Given the description of an element on the screen output the (x, y) to click on. 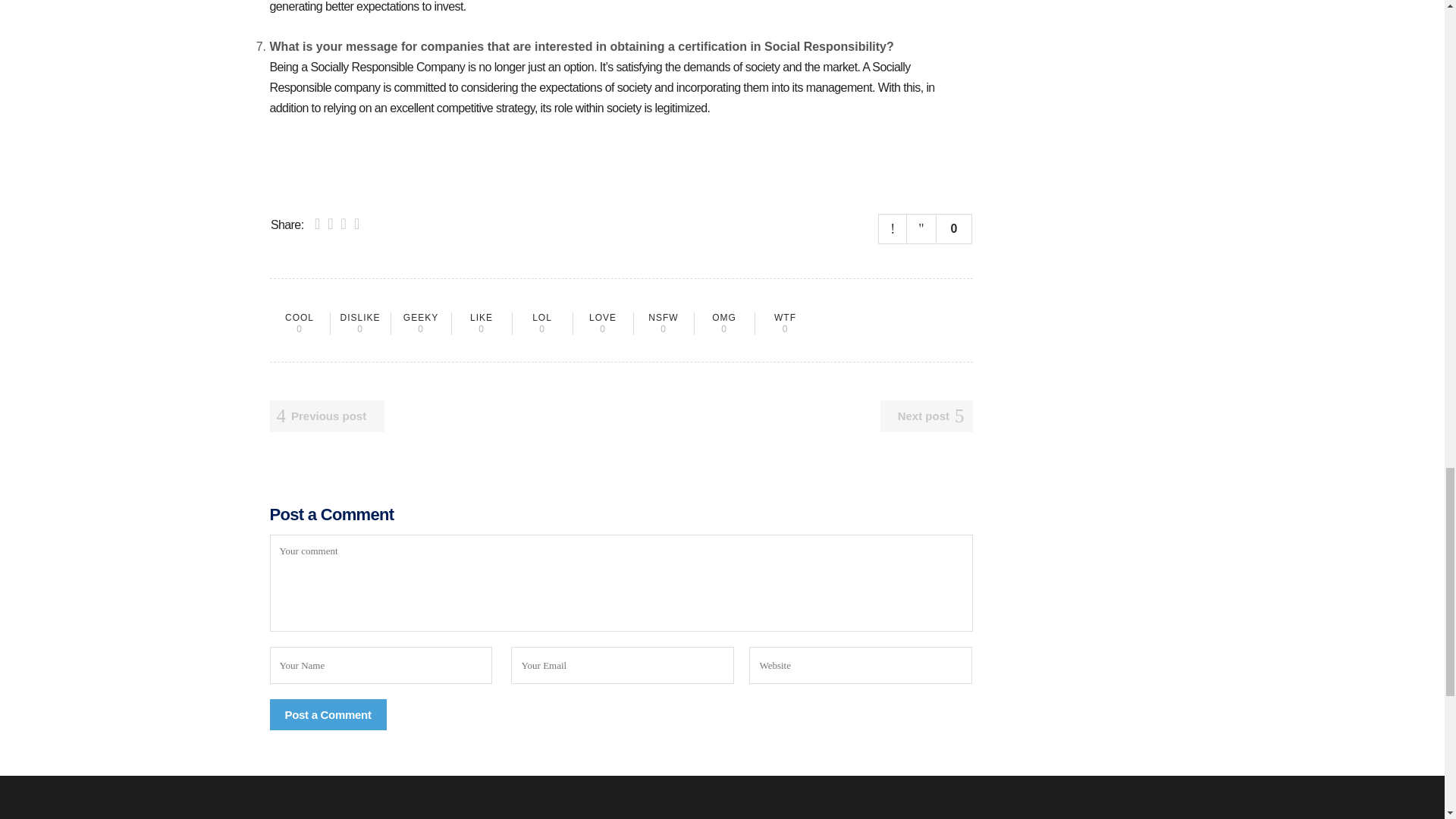
Post a Comment (328, 714)
